Given the description of an element on the screen output the (x, y) to click on. 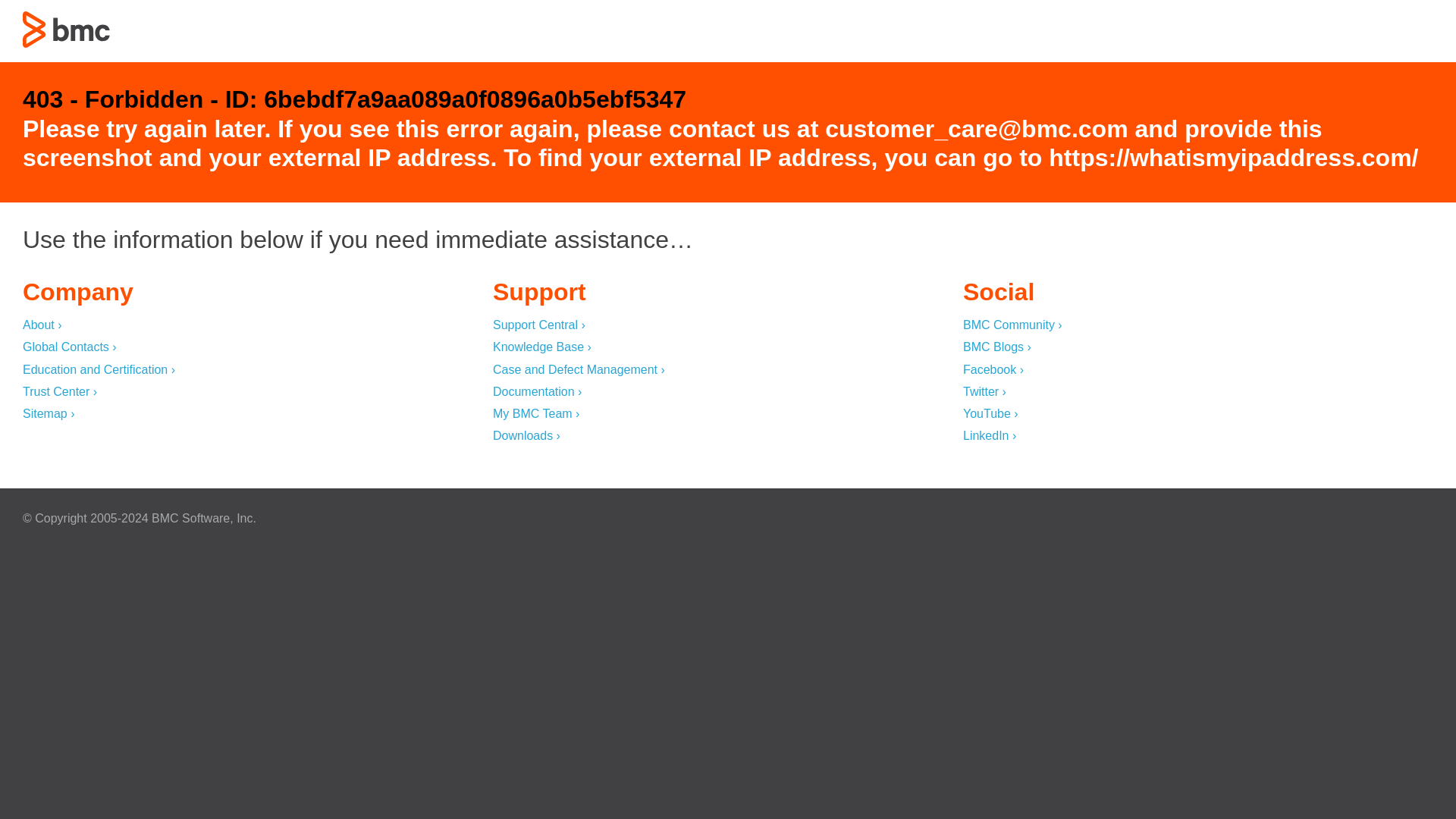
403 - Forbidden (66, 29)
